Given the description of an element on the screen output the (x, y) to click on. 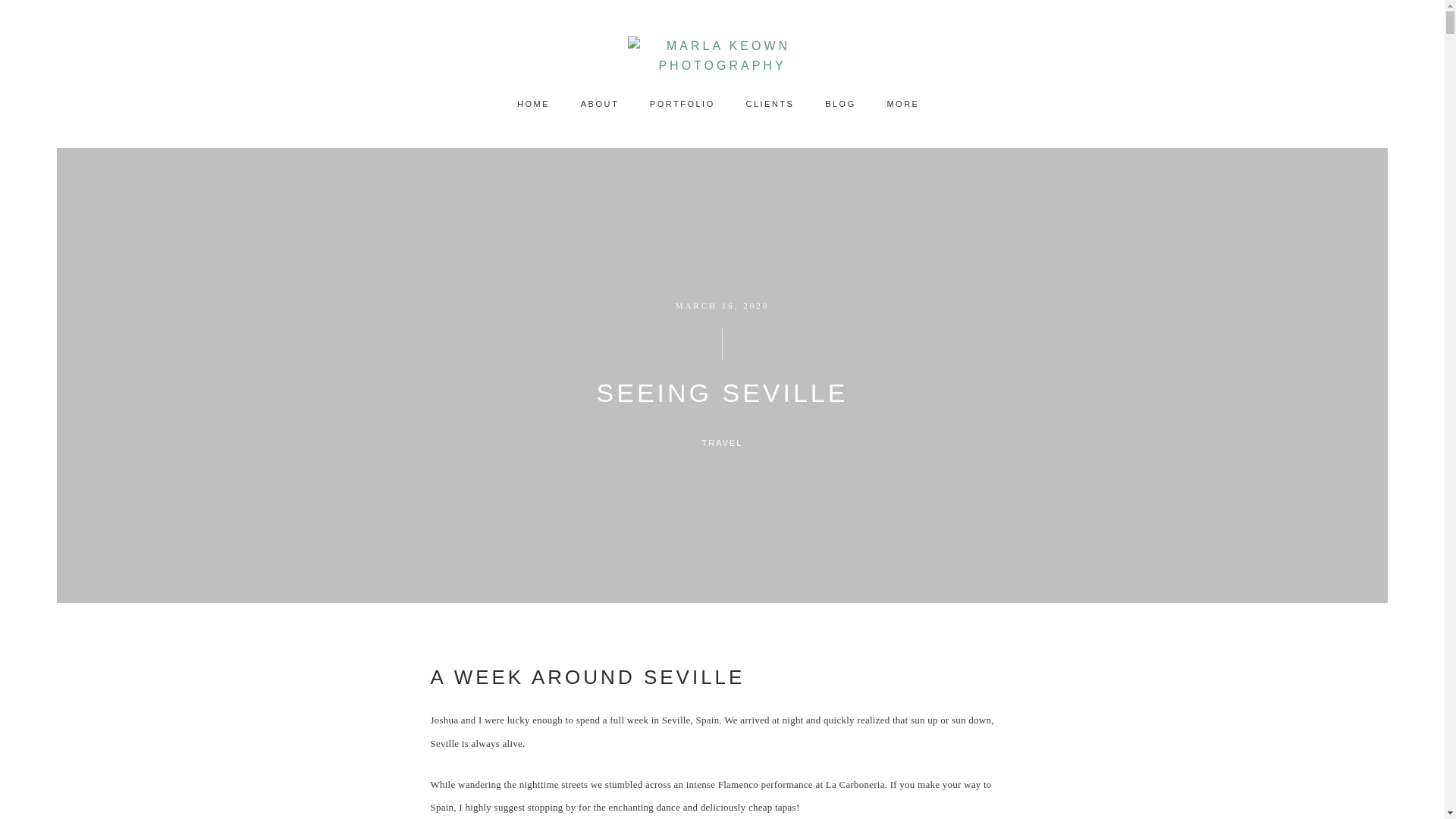
TRAVEL (721, 442)
HOME (533, 104)
CLIENTS (769, 104)
BLOG (840, 104)
MORE (907, 104)
ABOUT (599, 104)
PORTFOLIO (681, 104)
